Given the description of an element on the screen output the (x, y) to click on. 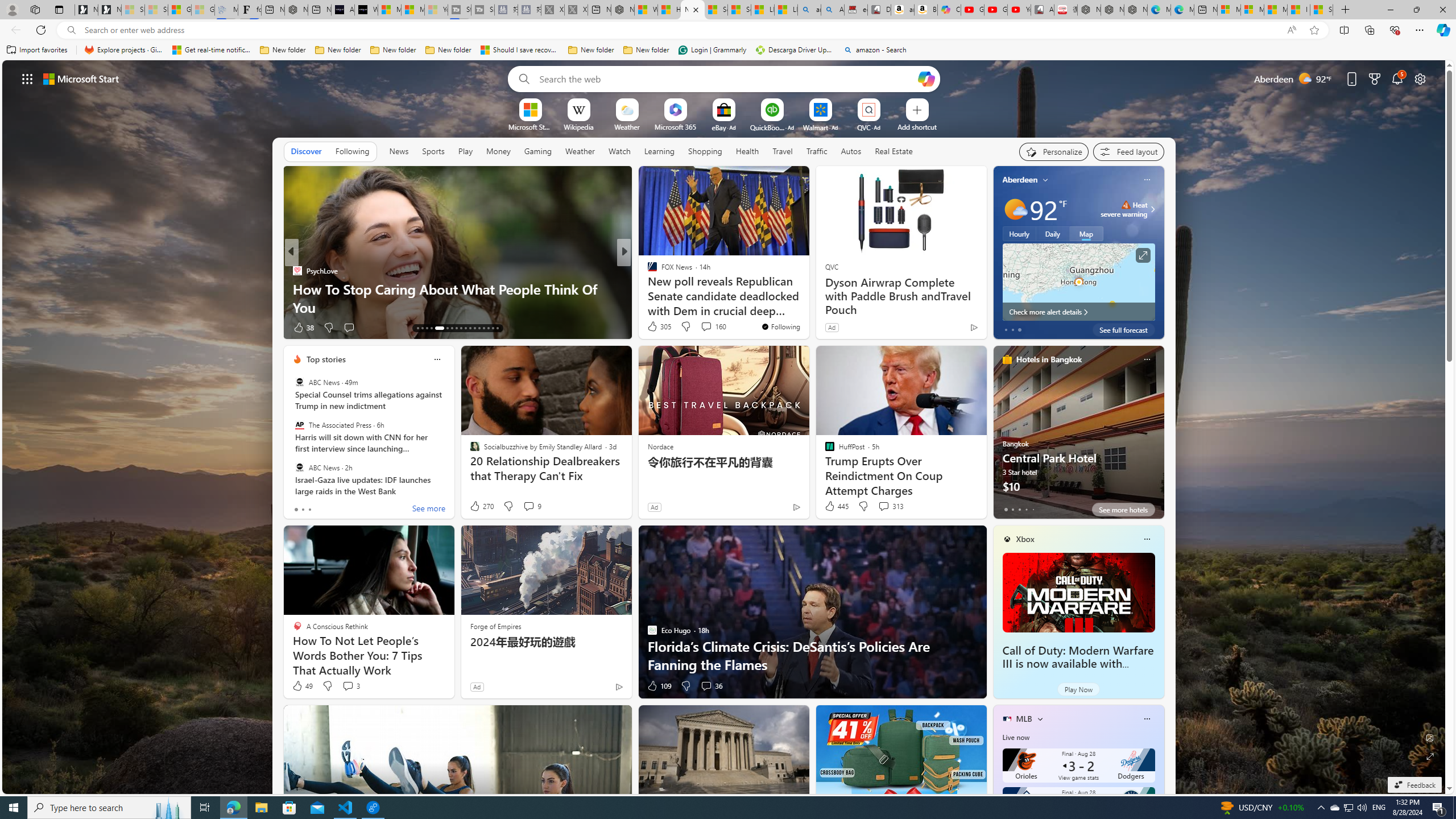
AutomationID: tab-25 (478, 328)
AutomationID: tab-20 (456, 328)
Edit Background (1430, 737)
Wikipedia (578, 126)
AutomationID: tab-18 (444, 328)
New folder (646, 49)
Hotels in Bangkok (1048, 359)
